Given the description of an element on the screen output the (x, y) to click on. 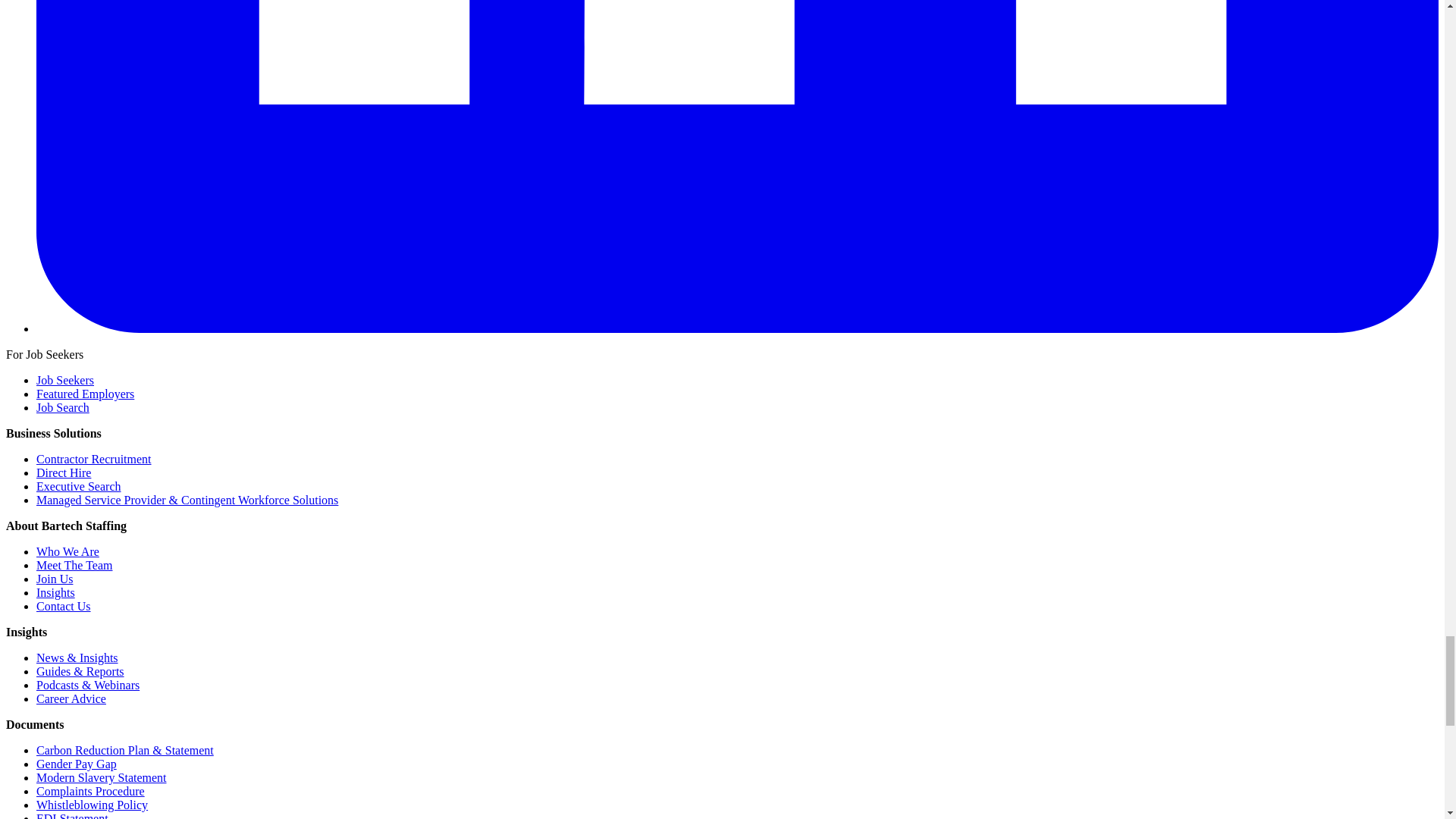
Job Search (62, 407)
Contractor Recruitment (93, 459)
Featured Employers (84, 393)
Job Seekers (65, 379)
